Given the description of an element on the screen output the (x, y) to click on. 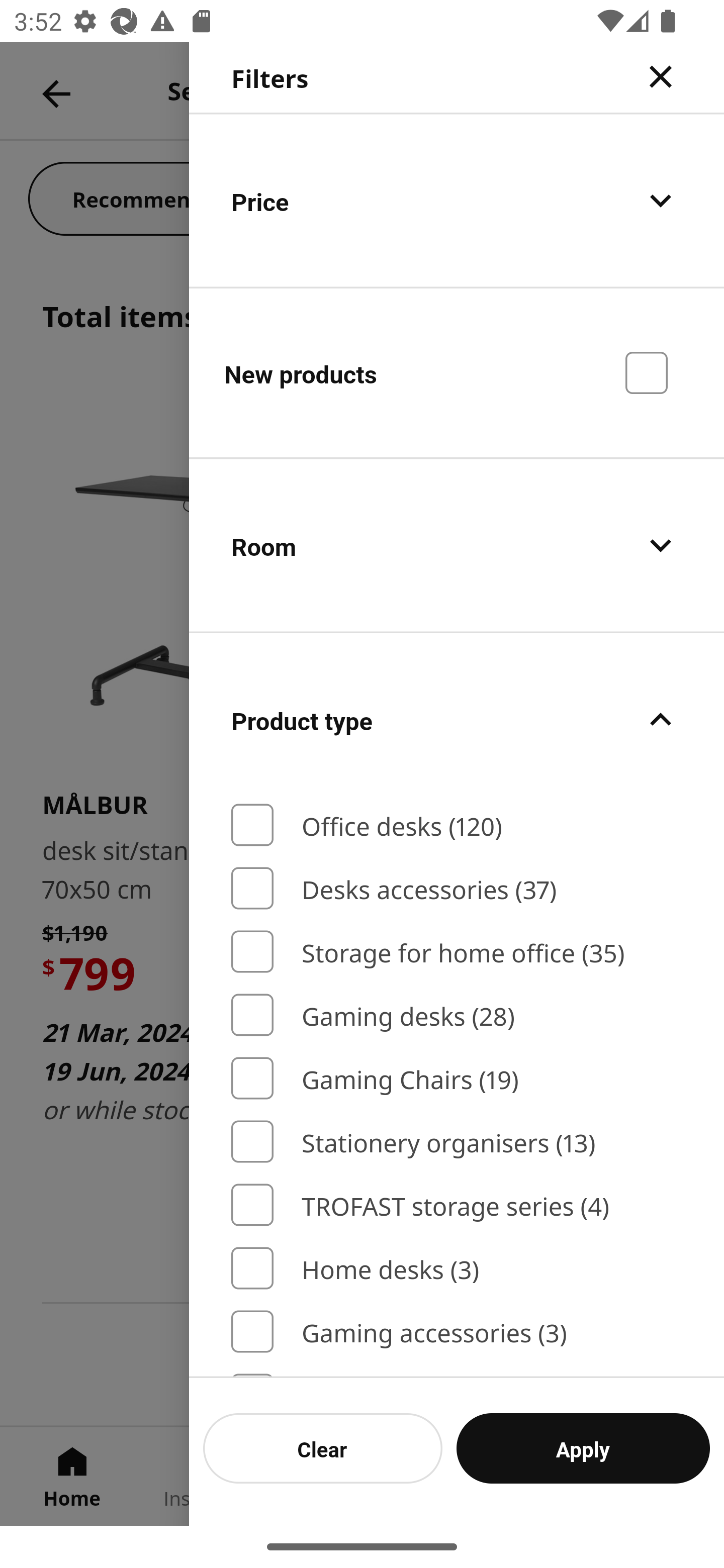
Price (456, 200)
New products (456, 371)
Room (456, 545)
Product type (456, 719)
Office desks (120) (456, 825)
Desks accessories (37) (456, 888)
Storage for home office (35) (456, 952)
Gaming desks (28) (456, 1015)
Gaming Chairs (19) (456, 1077)
Stationery organisers (13) (456, 1142)
TROFAST storage series (4) (456, 1204)
Home desks (3) (456, 1268)
Gaming accessories (3) (456, 1331)
Clear (322, 1447)
Apply (583, 1447)
